Given the description of an element on the screen output the (x, y) to click on. 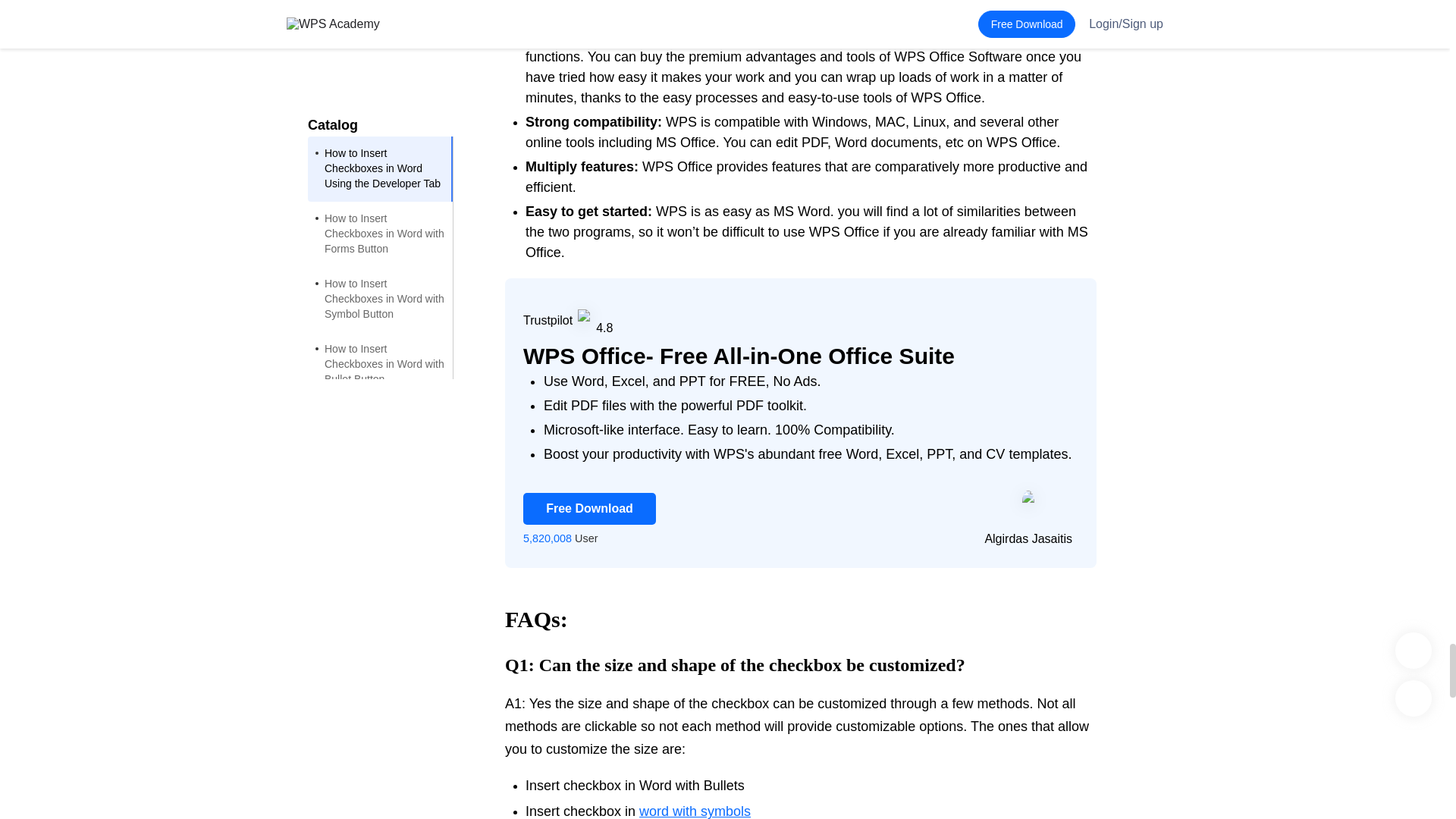
Free Download (589, 508)
View word with symbols (695, 811)
word with symbols (695, 811)
